Given the description of an element on the screen output the (x, y) to click on. 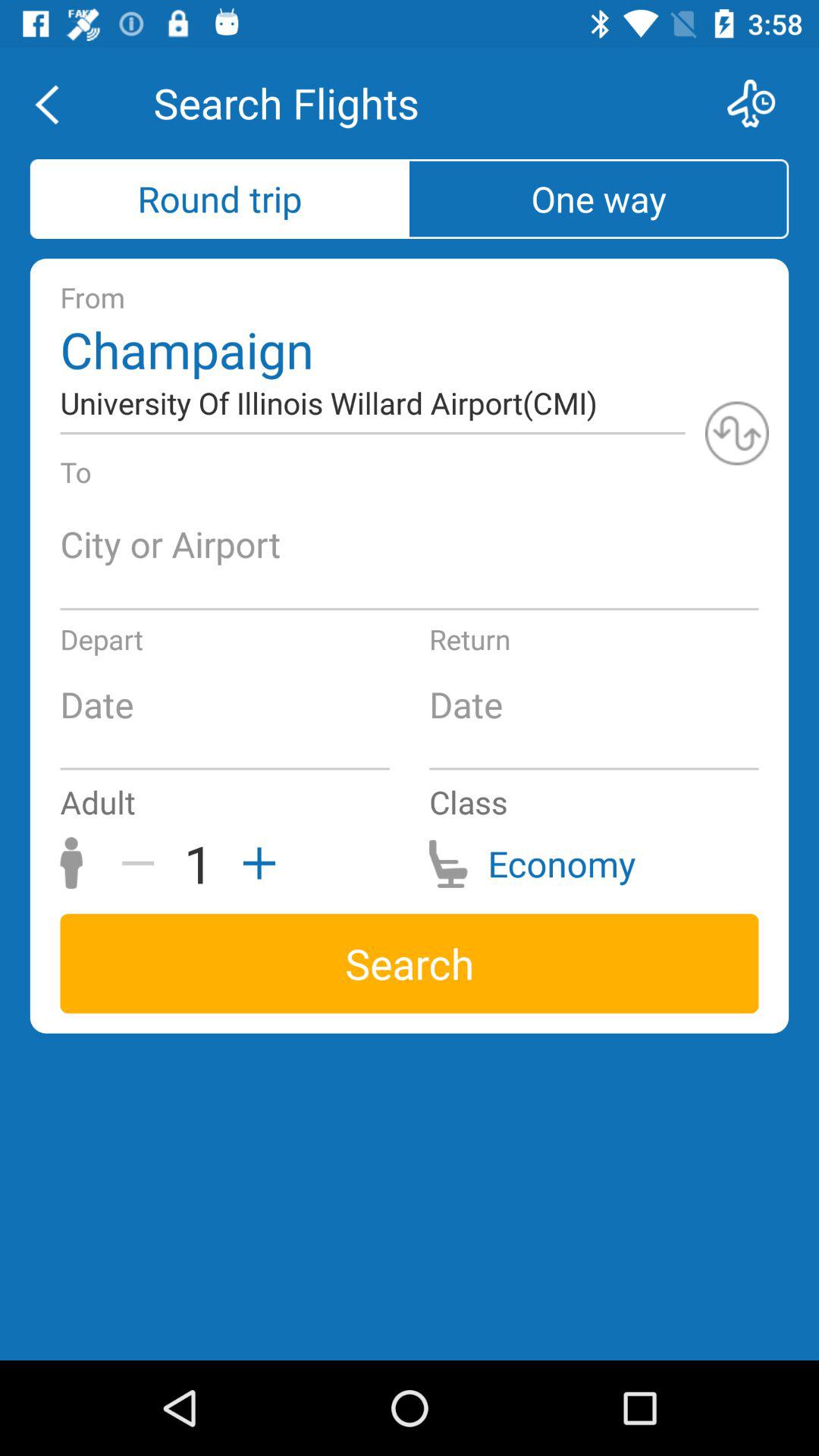
click the item next to the class icon (254, 863)
